Given the description of an element on the screen output the (x, y) to click on. 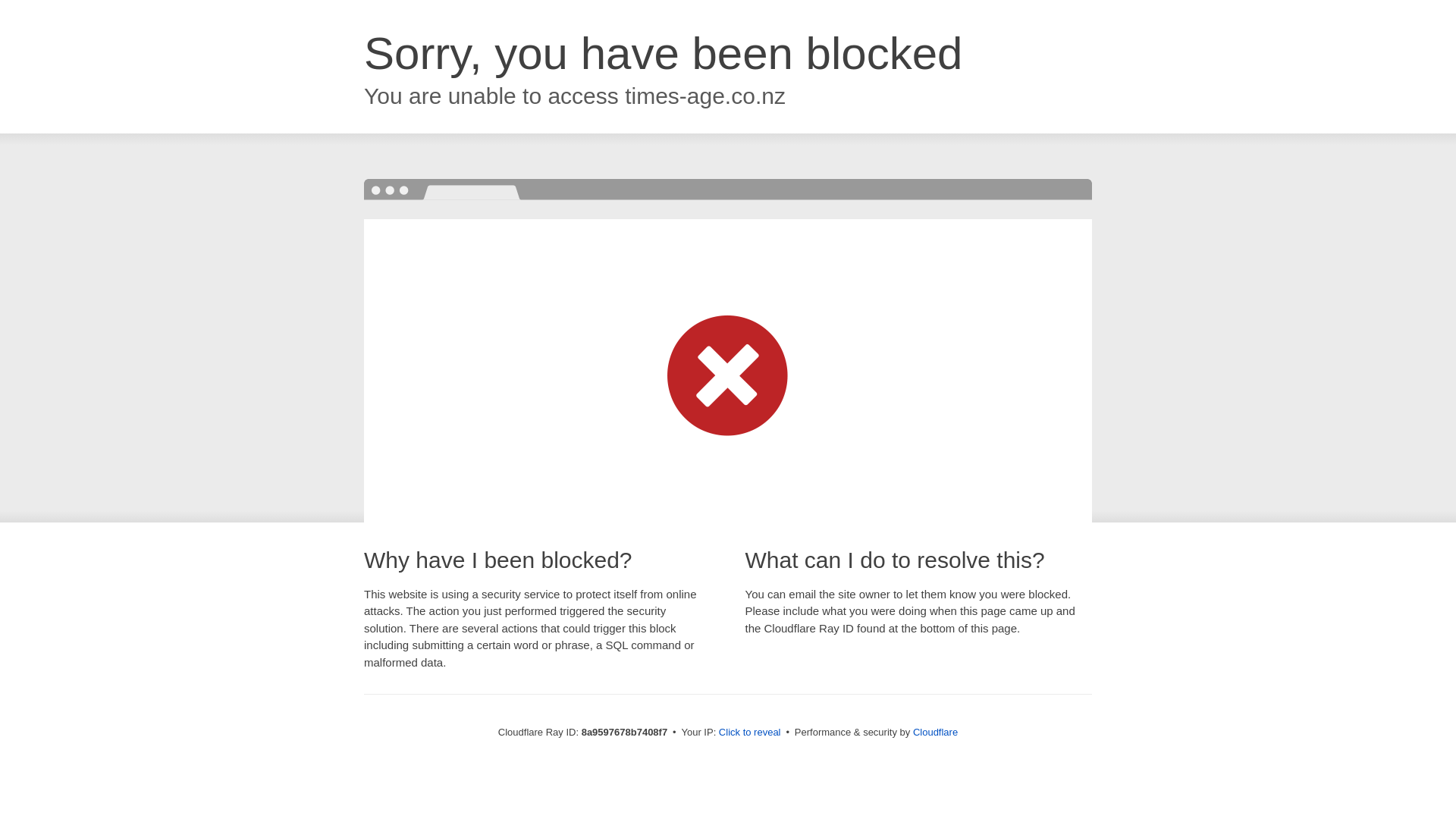
Click to reveal (749, 732)
Cloudflare (935, 731)
